Given the description of an element on the screen output the (x, y) to click on. 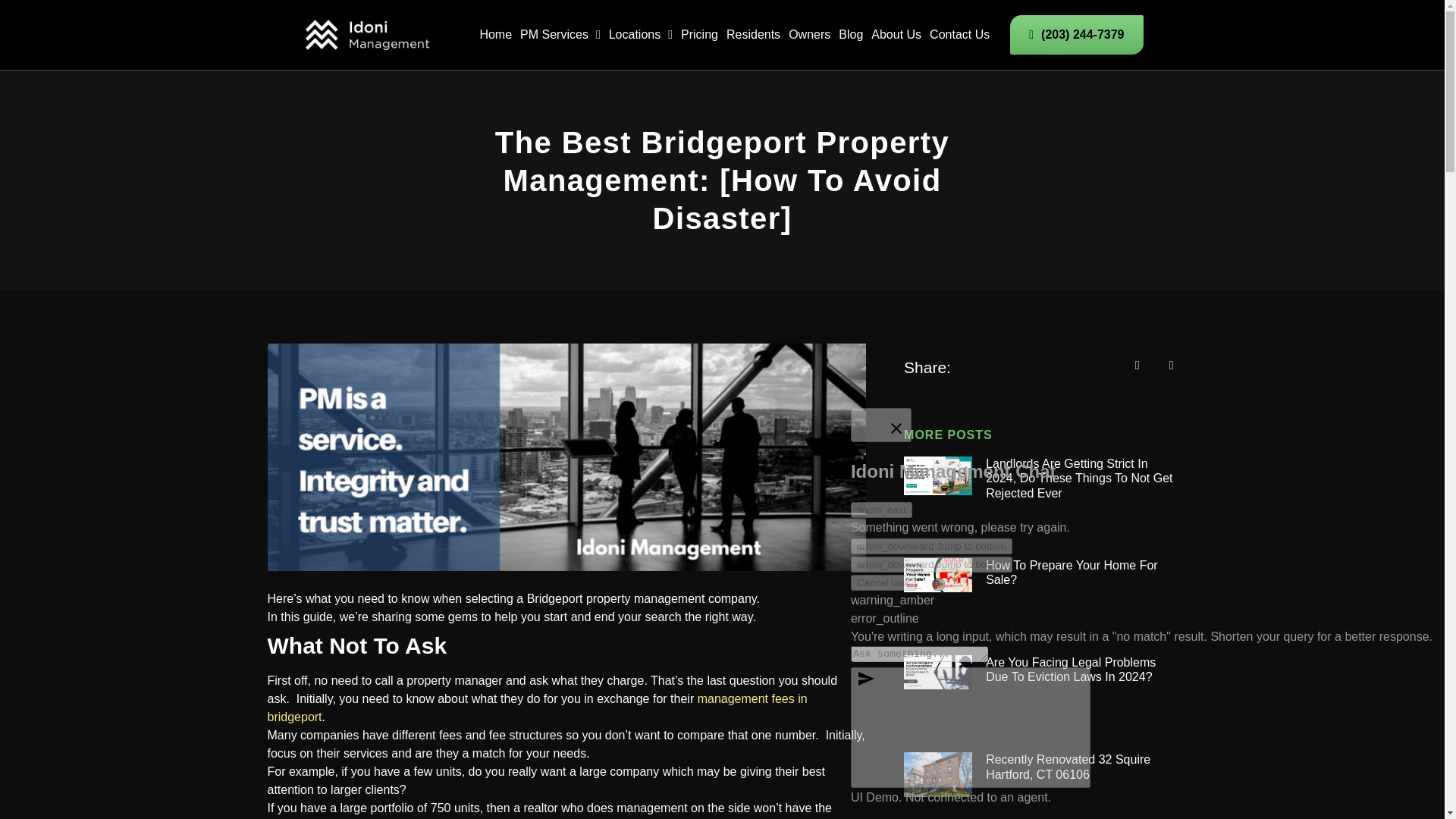
Owners (809, 34)
Home (495, 34)
Residents (753, 34)
Contact Us (960, 34)
Locations (640, 34)
Blog (850, 34)
Pricing (699, 34)
PM Services (559, 34)
About Us (895, 34)
